Given the description of an element on the screen output the (x, y) to click on. 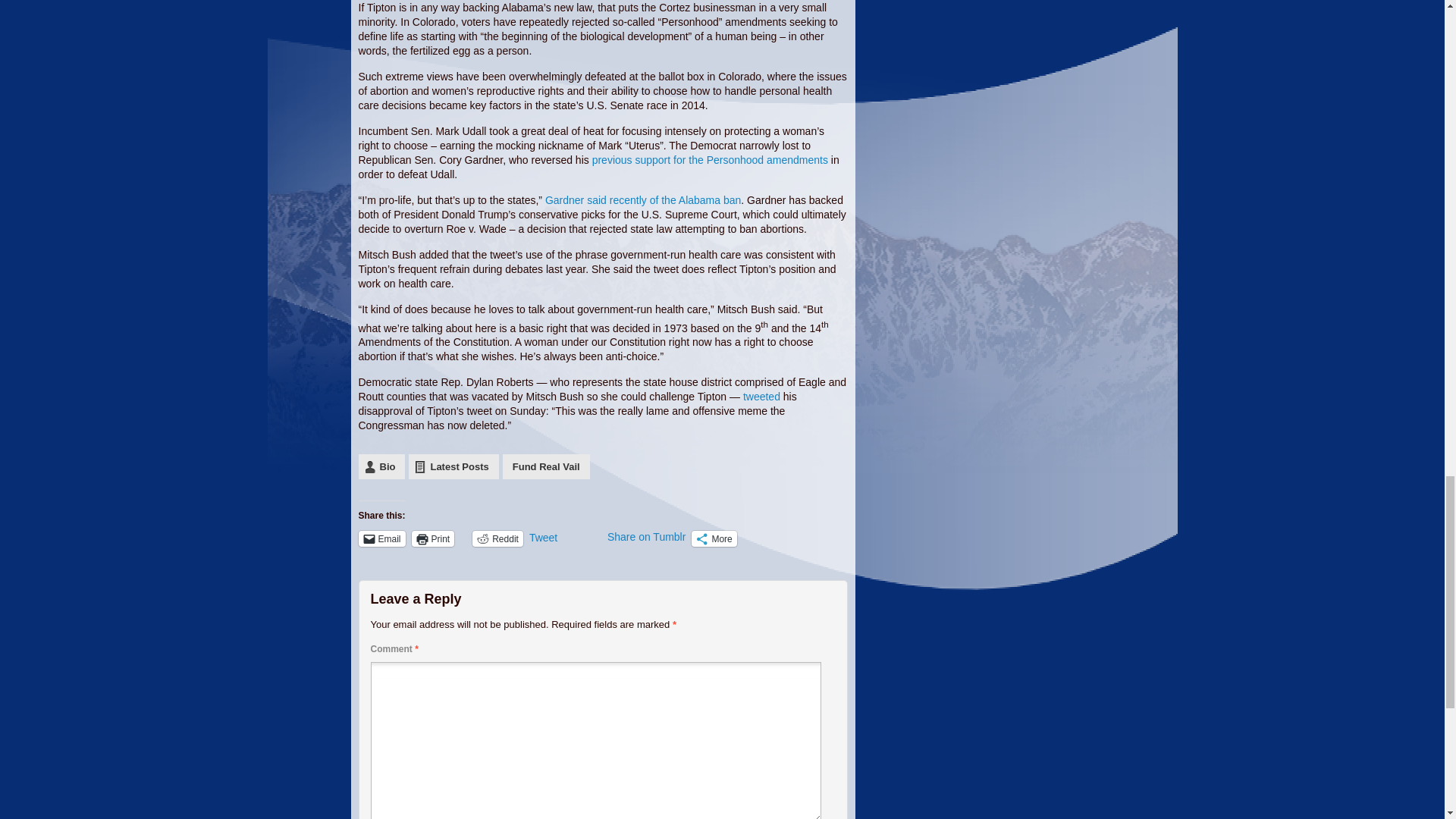
Bio (381, 466)
tweeted (761, 396)
Latest Posts (453, 466)
More (713, 538)
Print (433, 538)
Click to email a link to a friend (381, 538)
Click to print (433, 538)
Share on Tumblr (646, 537)
Reddit (496, 538)
Fund Real Vail (545, 466)
